Given the description of an element on the screen output the (x, y) to click on. 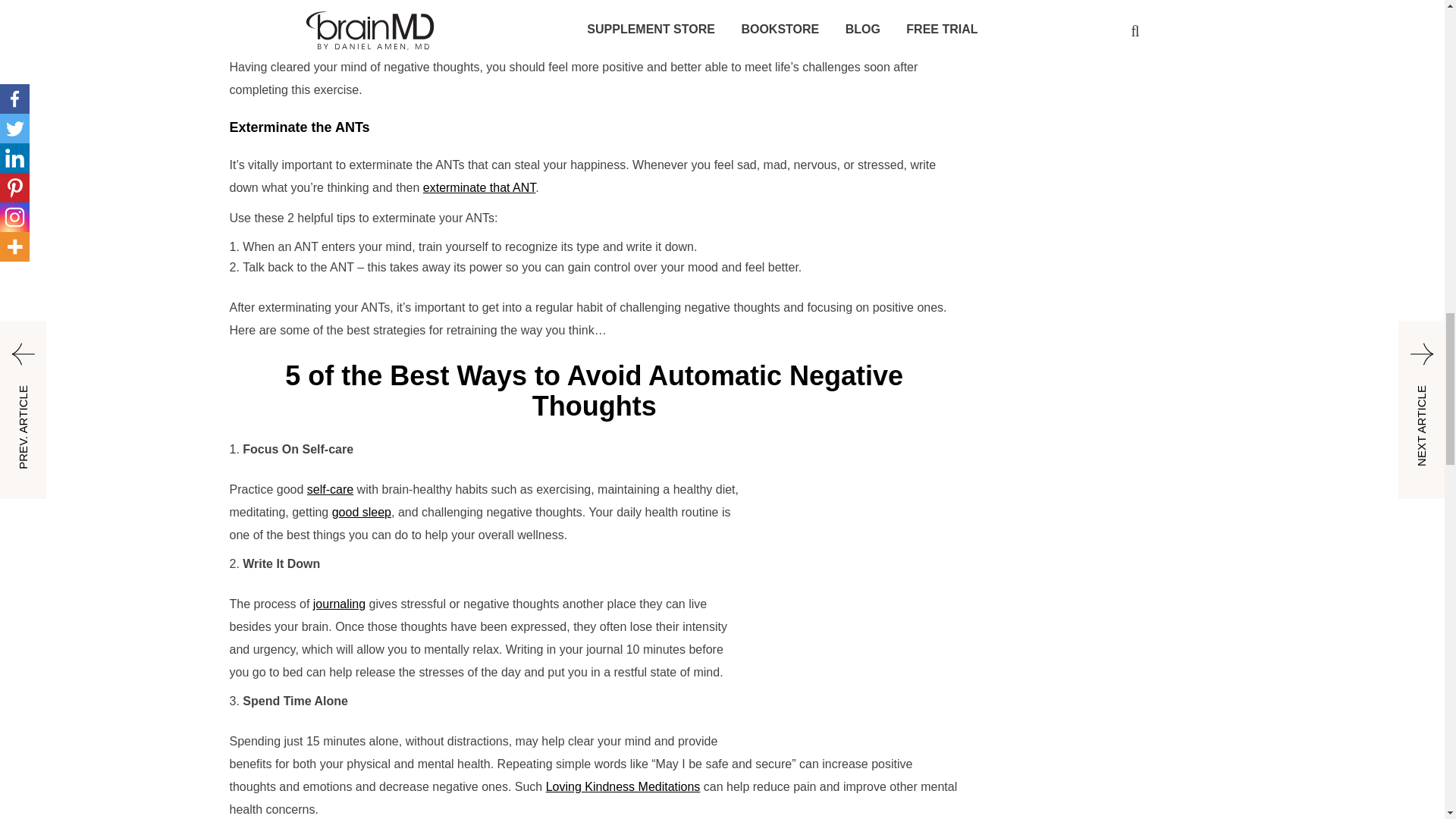
good sleep (361, 512)
exterminate that ANT (479, 187)
self-care (330, 489)
